Given the description of an element on the screen output the (x, y) to click on. 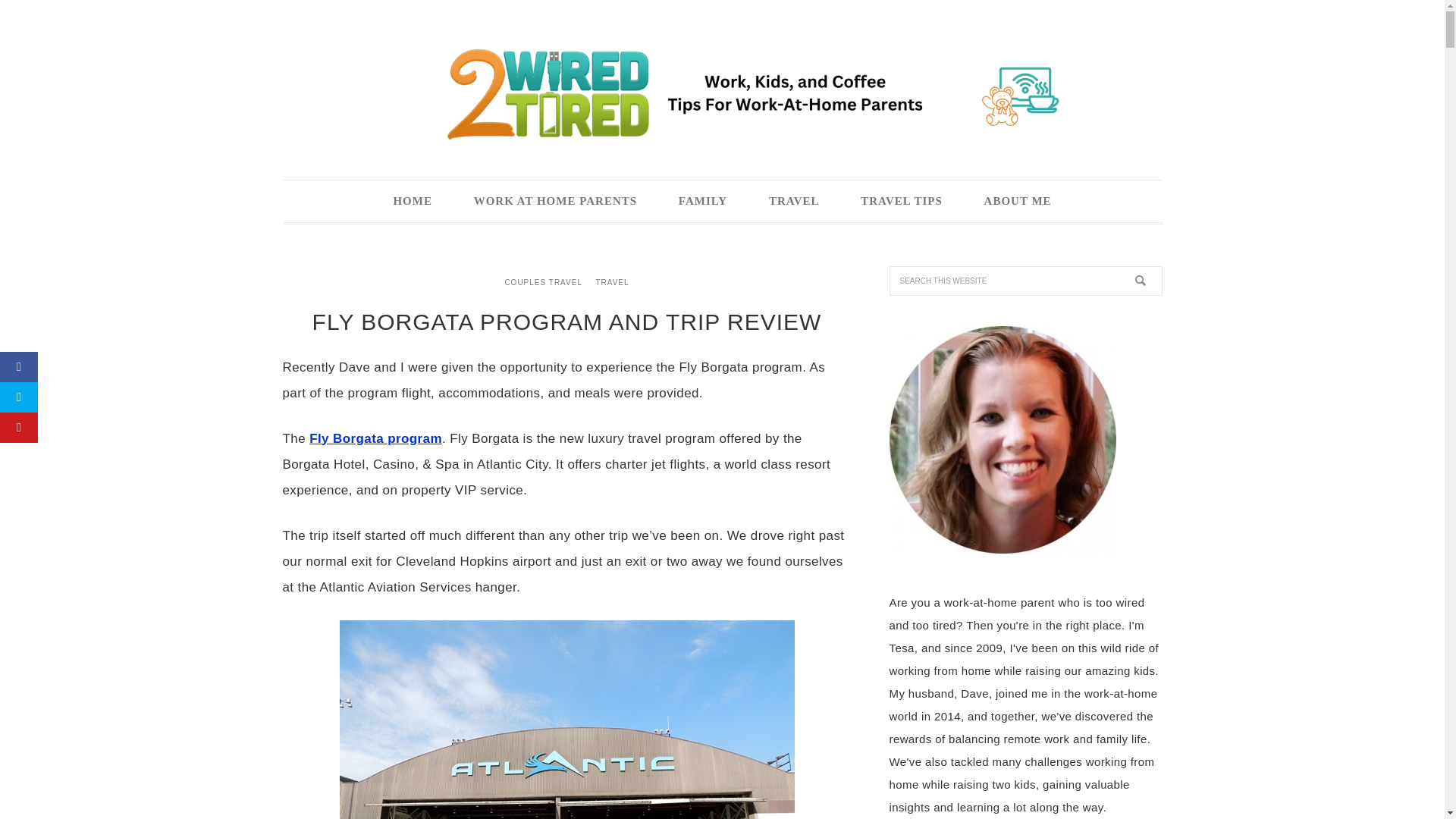
ABOUT ME (1017, 200)
TRAVEL TIPS (900, 200)
TRAVEL (793, 200)
COUPLES TRAVEL (543, 281)
Fly Borgata program (375, 437)
WORK AT HOME PARENTS (555, 200)
TRAVEL (611, 281)
HOME (412, 200)
2 WIRED 2 TIRED (721, 92)
FAMILY (702, 200)
